Given the description of an element on the screen output the (x, y) to click on. 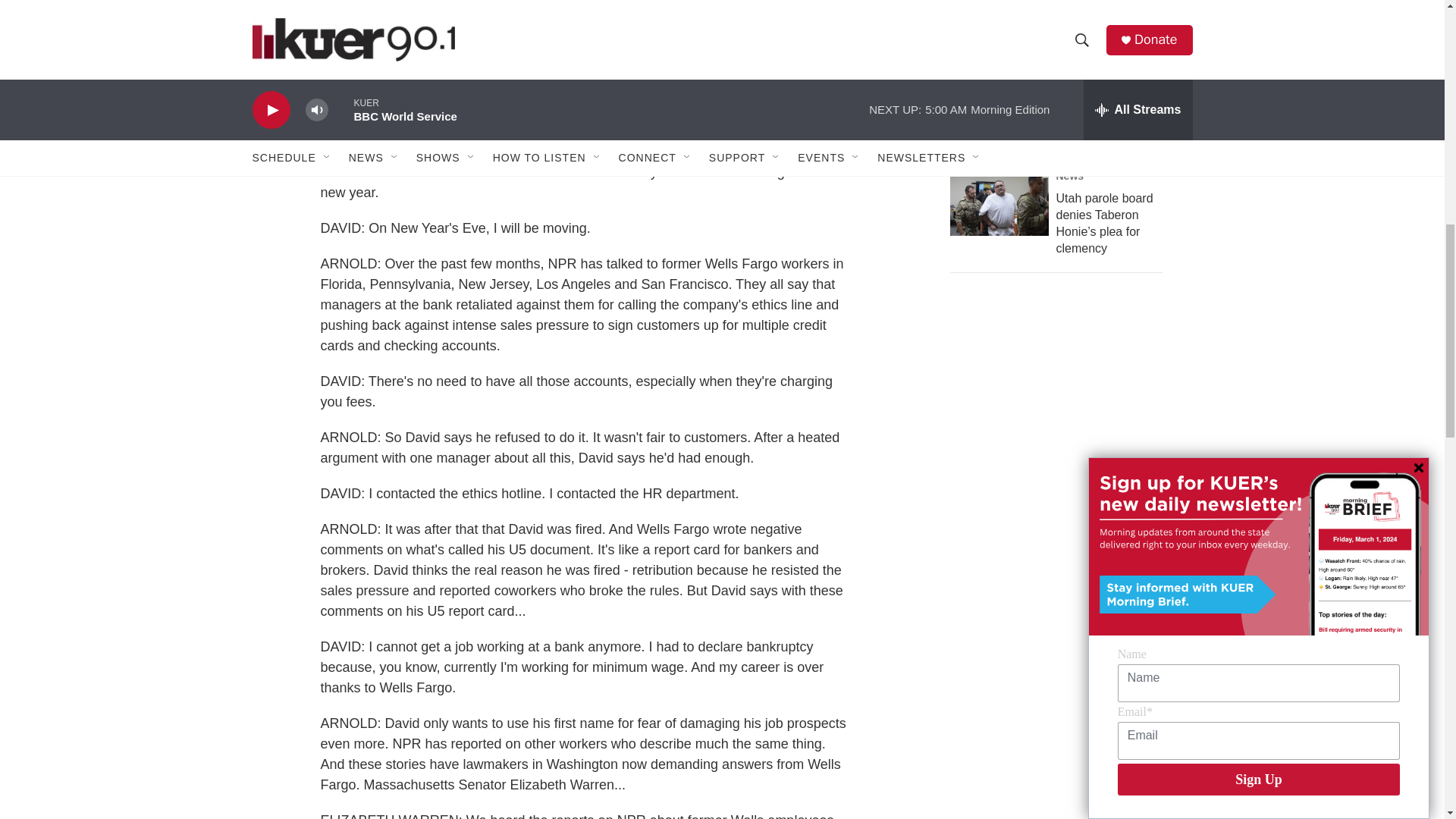
3rd party ad content (1062, 416)
3rd party ad content (1062, 674)
